Given the description of an element on the screen output the (x, y) to click on. 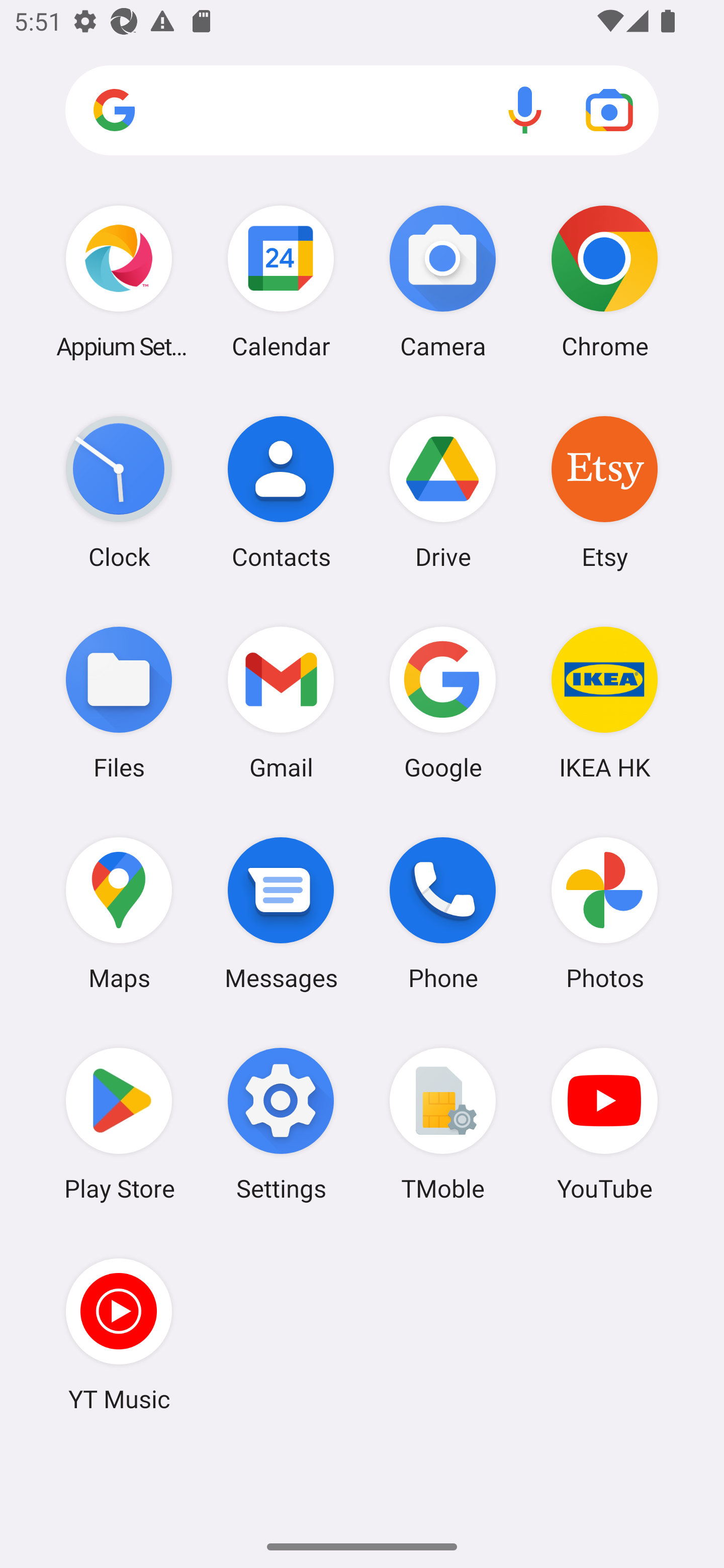
Search apps, web and more (361, 110)
Voice search (524, 109)
Google Lens (608, 109)
Appium Settings (118, 281)
Calendar (280, 281)
Camera (443, 281)
Chrome (604, 281)
Clock (118, 492)
Contacts (280, 492)
Drive (443, 492)
Etsy (604, 492)
Files (118, 702)
Gmail (280, 702)
Google (443, 702)
IKEA HK (604, 702)
Maps (118, 913)
Messages (280, 913)
Phone (443, 913)
Photos (604, 913)
Play Store (118, 1124)
Settings (280, 1124)
TMoble (443, 1124)
YouTube (604, 1124)
YT Music (118, 1334)
